Given the description of an element on the screen output the (x, y) to click on. 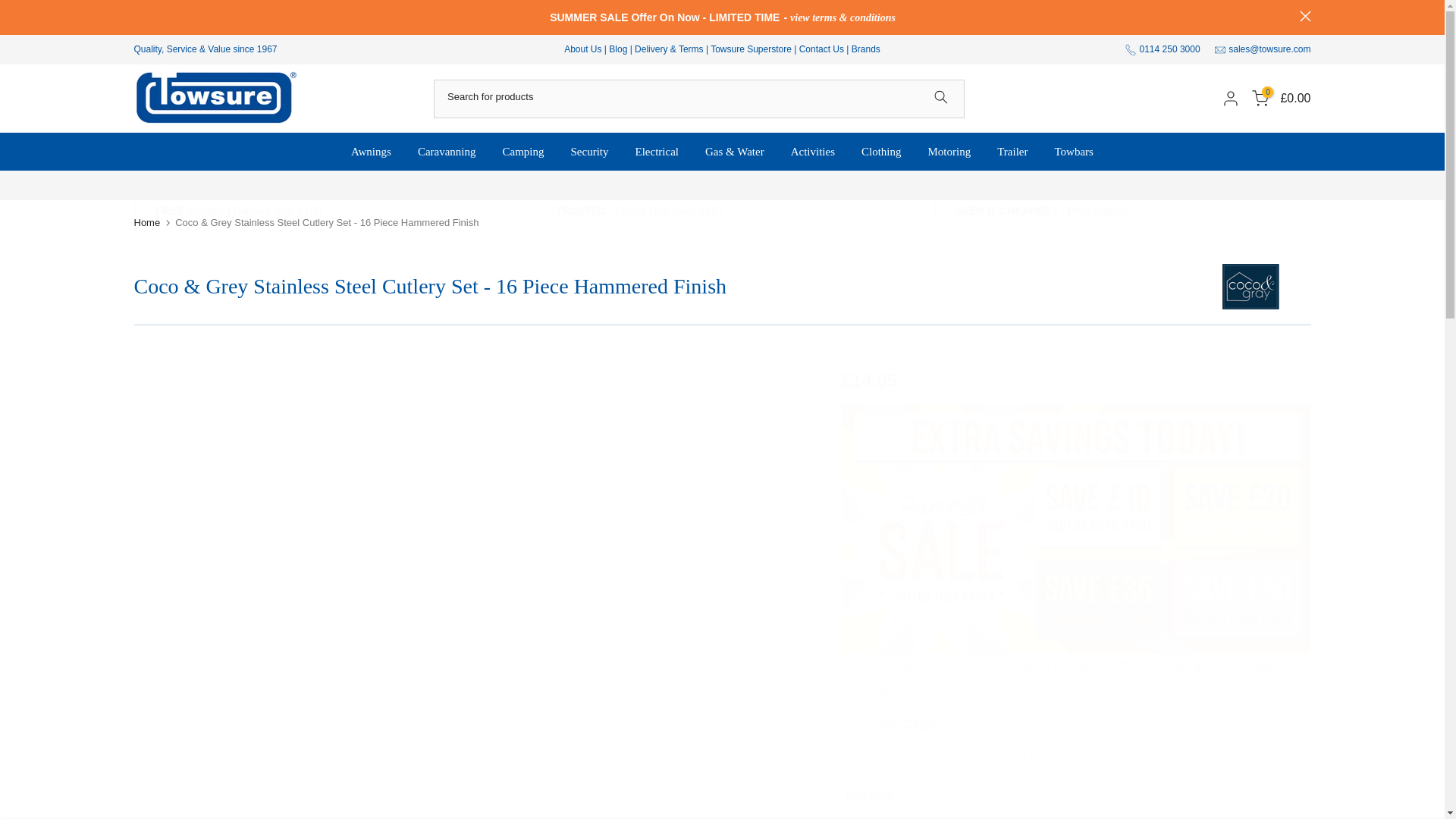
Brands (865, 49)
Brands (865, 49)
0114 250 3000 (1168, 49)
Contact (821, 49)
Towsure Superstore (751, 49)
Contact Us (821, 49)
Company Profile (639, 210)
close (1305, 16)
About Us (582, 49)
Awnings (370, 151)
Price Match (1040, 210)
Delivery, Terms and Conditions (668, 49)
Company Profile (582, 49)
Blog (618, 49)
Delivery, Terms and Conditions (238, 210)
